Given the description of an element on the screen output the (x, y) to click on. 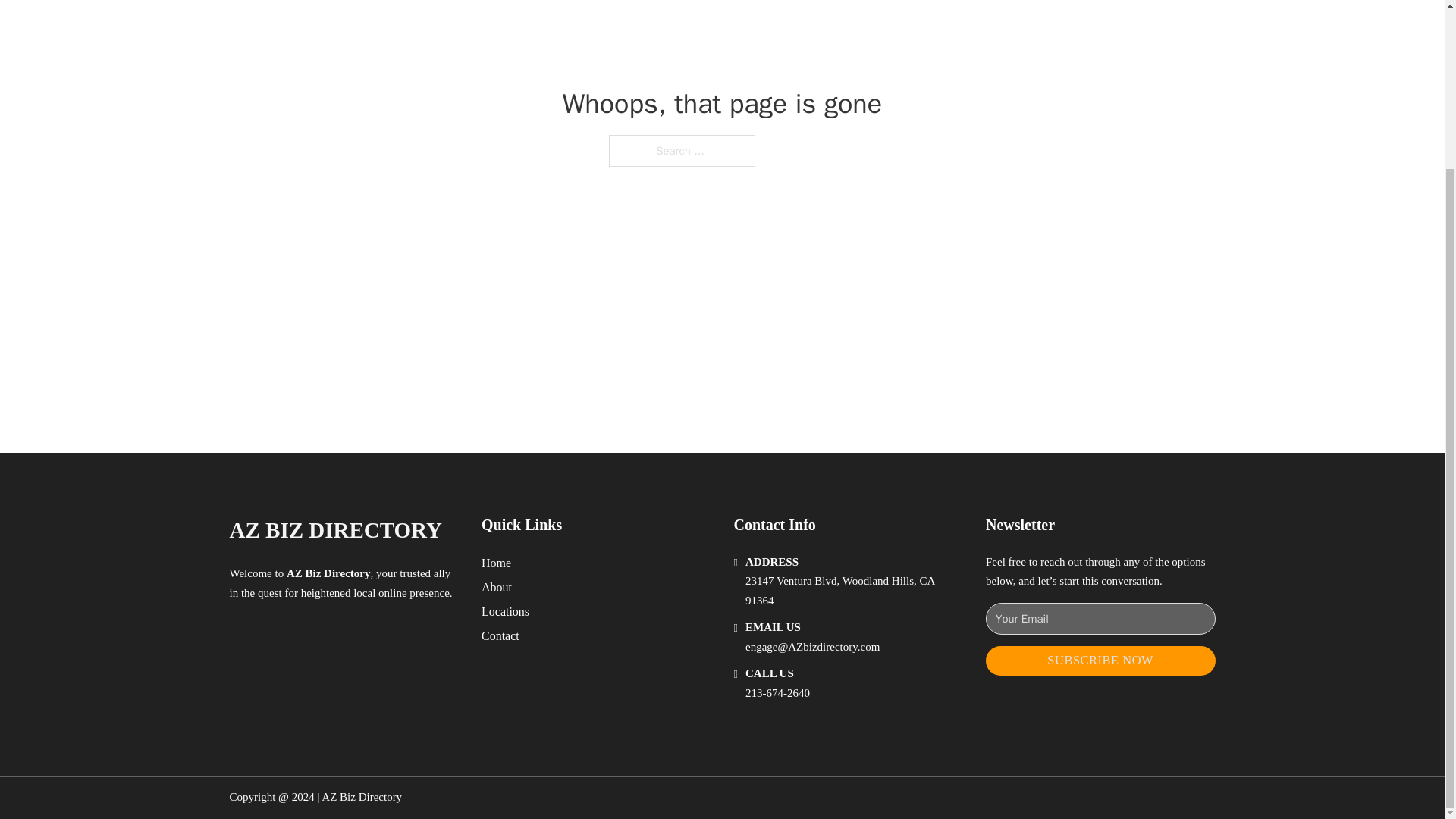
Contact (500, 635)
Home (496, 562)
213-674-2640 (777, 693)
About (496, 587)
Locations (505, 611)
AZ BIZ DIRECTORY (334, 529)
SUBSCRIBE NOW (1100, 660)
